Given the description of an element on the screen output the (x, y) to click on. 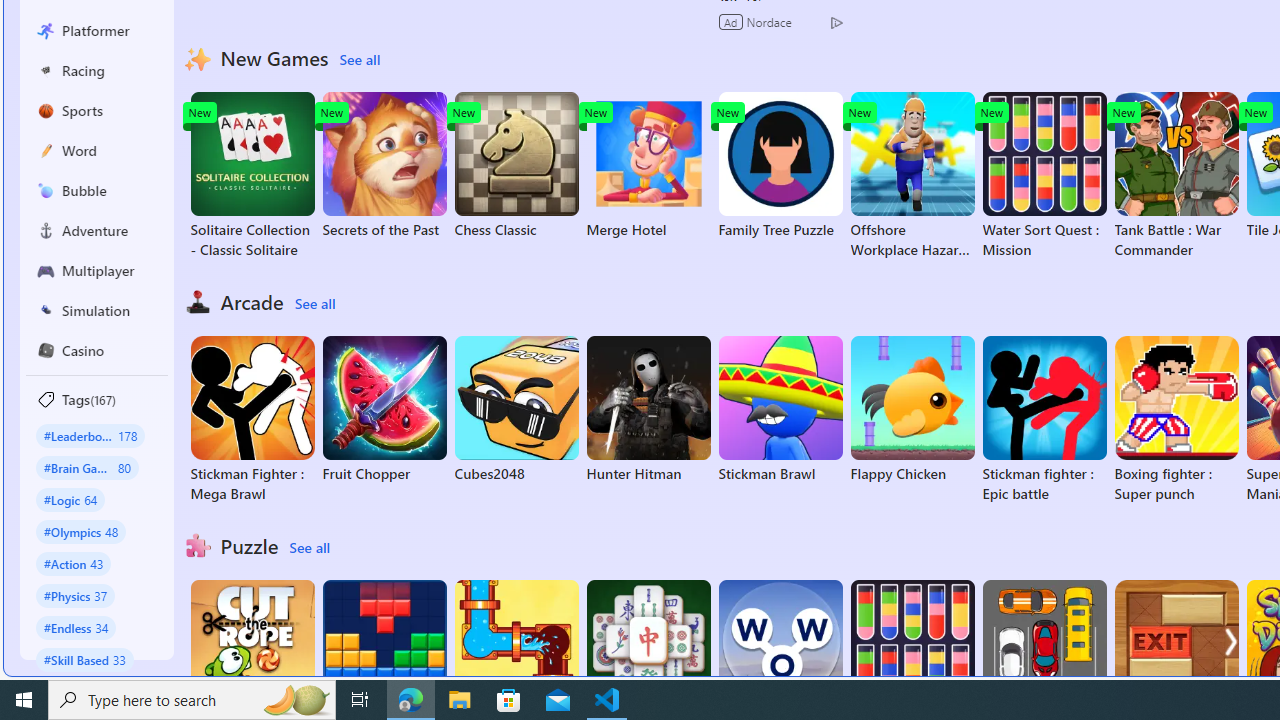
Family Tree Puzzle (780, 165)
Tank Battle : War Commander (1176, 175)
Chess Classic (516, 165)
Secrets of the Past (384, 165)
Flappy Chicken (912, 409)
Water Sort Quest : Mission (1044, 175)
Merge Hotel (648, 165)
Stickman Fighter : Mega Brawl (251, 419)
#Leaderboard 178 (90, 435)
Boxing fighter : Super punch (1176, 419)
Stickman Brawl (780, 409)
#Action 43 (73, 563)
#Physics 37 (75, 595)
Class: ad-choice  ad-choice-mono  (836, 21)
Fruit Chopper (384, 409)
